Given the description of an element on the screen output the (x, y) to click on. 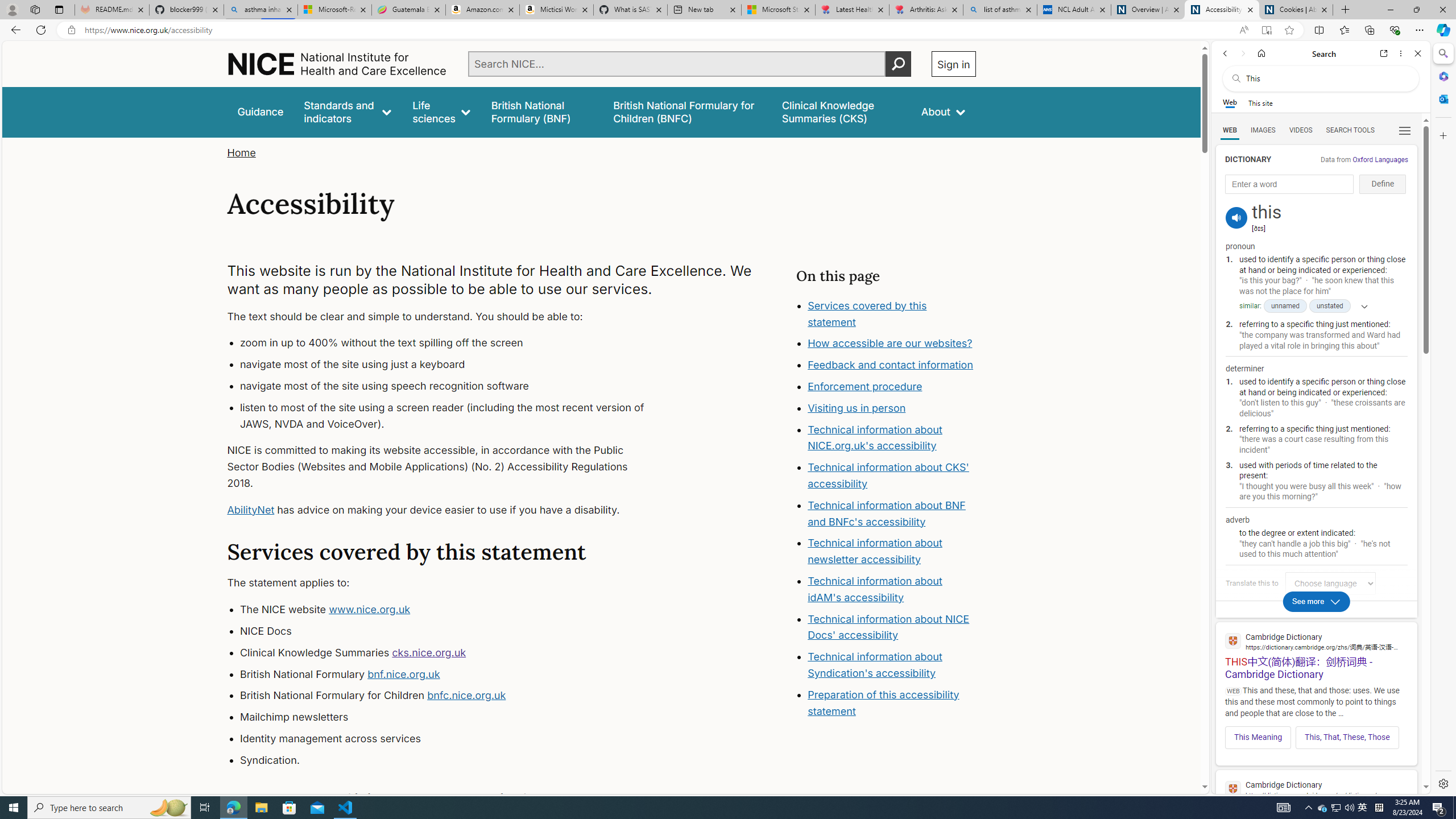
navigate most of the site using speech recognition software (452, 385)
How accessible are our websites? (891, 343)
AbilityNet (251, 509)
Cookies | About | NICE (1295, 9)
Syndication. (452, 760)
British National Formulary for Children bnfc.nice.org.uk (452, 695)
unstated (1329, 305)
This Meaning (1257, 737)
Visiting us in person (891, 407)
Technical information about BNF and BNFc's accessibility (886, 512)
This MeaningThis, That, These, Those (1315, 734)
